Given the description of an element on the screen output the (x, y) to click on. 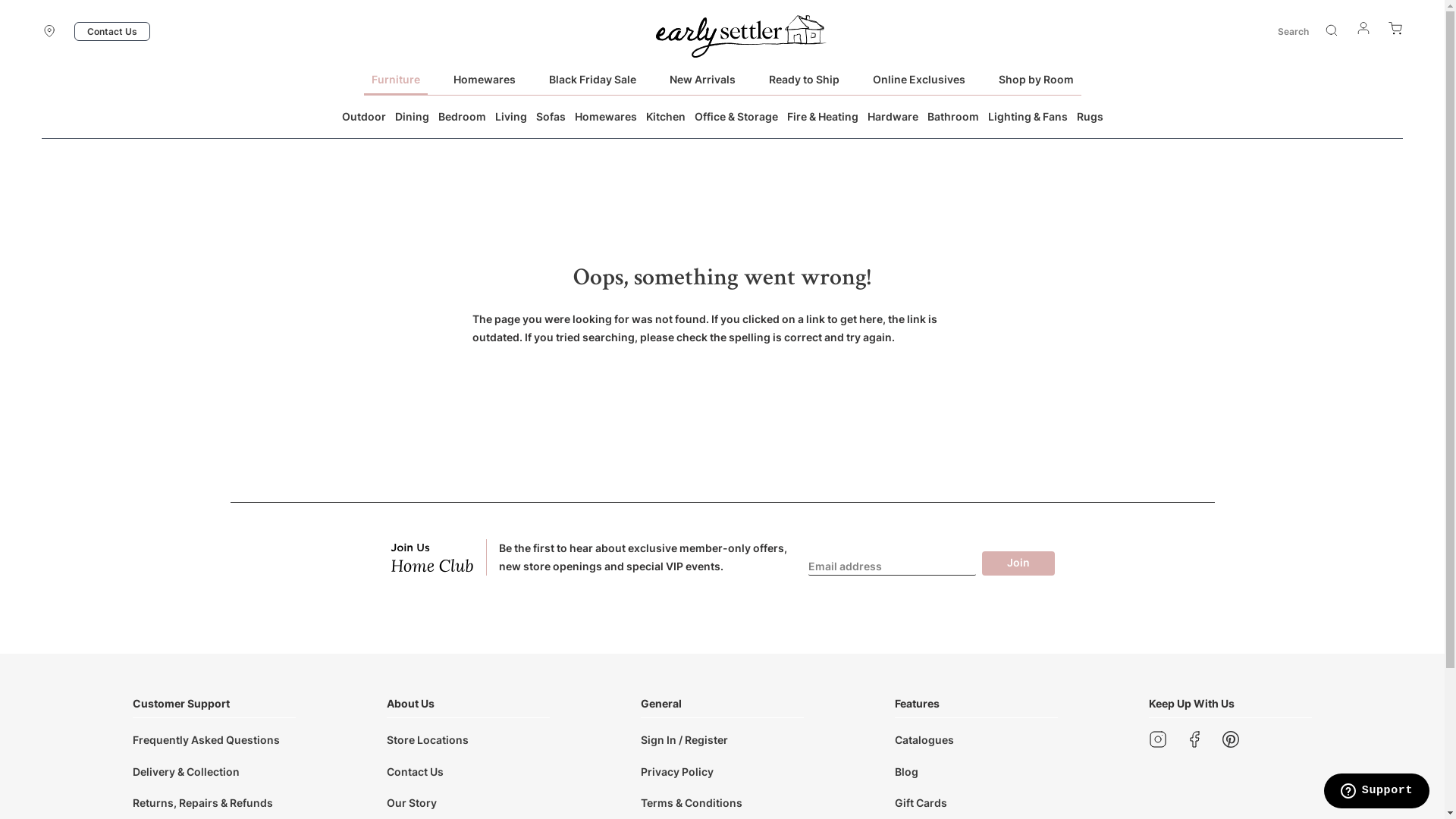
Opens a widget where you can find more information Element type: hover (1376, 792)
New Arrivals Element type: text (701, 78)
Join Element type: text (1017, 563)
Living Element type: text (510, 116)
Terms & Conditions Element type: text (691, 802)
Rugs Element type: text (1089, 116)
Dining Element type: text (411, 116)
Frequently Asked Questions Element type: text (205, 739)
Gift Cards Element type: text (920, 802)
Kitchen Element type: text (665, 116)
Blog Element type: text (906, 770)
Outdoor Element type: text (363, 116)
Bedroom Element type: text (462, 116)
Homewares Element type: text (605, 116)
Contact Us Element type: text (414, 770)
Fire & Heating Element type: text (822, 116)
Lighting & Fans Element type: text (1026, 116)
Privacy Policy Element type: text (676, 770)
Store Locations Element type: text (427, 739)
Black Friday Sale Element type: text (592, 78)
Our Story Element type: text (411, 802)
Sign In / Register Element type: text (684, 739)
Delivery & Collection Element type: text (185, 770)
Homewares Element type: text (484, 78)
Bathroom Element type: text (952, 116)
Search Element type: text (1331, 29)
Hardware Element type: text (892, 116)
Sofas Element type: text (549, 116)
Contact Us Element type: text (112, 30)
Shop by Room Element type: text (1035, 78)
Online Exclusives Element type: text (918, 78)
Returns, Repairs & Refunds Element type: text (202, 802)
Catalogues Element type: text (923, 739)
Ready to Ship Element type: text (803, 78)
Furniture Element type: text (395, 78)
Office & Storage Element type: text (736, 116)
